Given the description of an element on the screen output the (x, y) to click on. 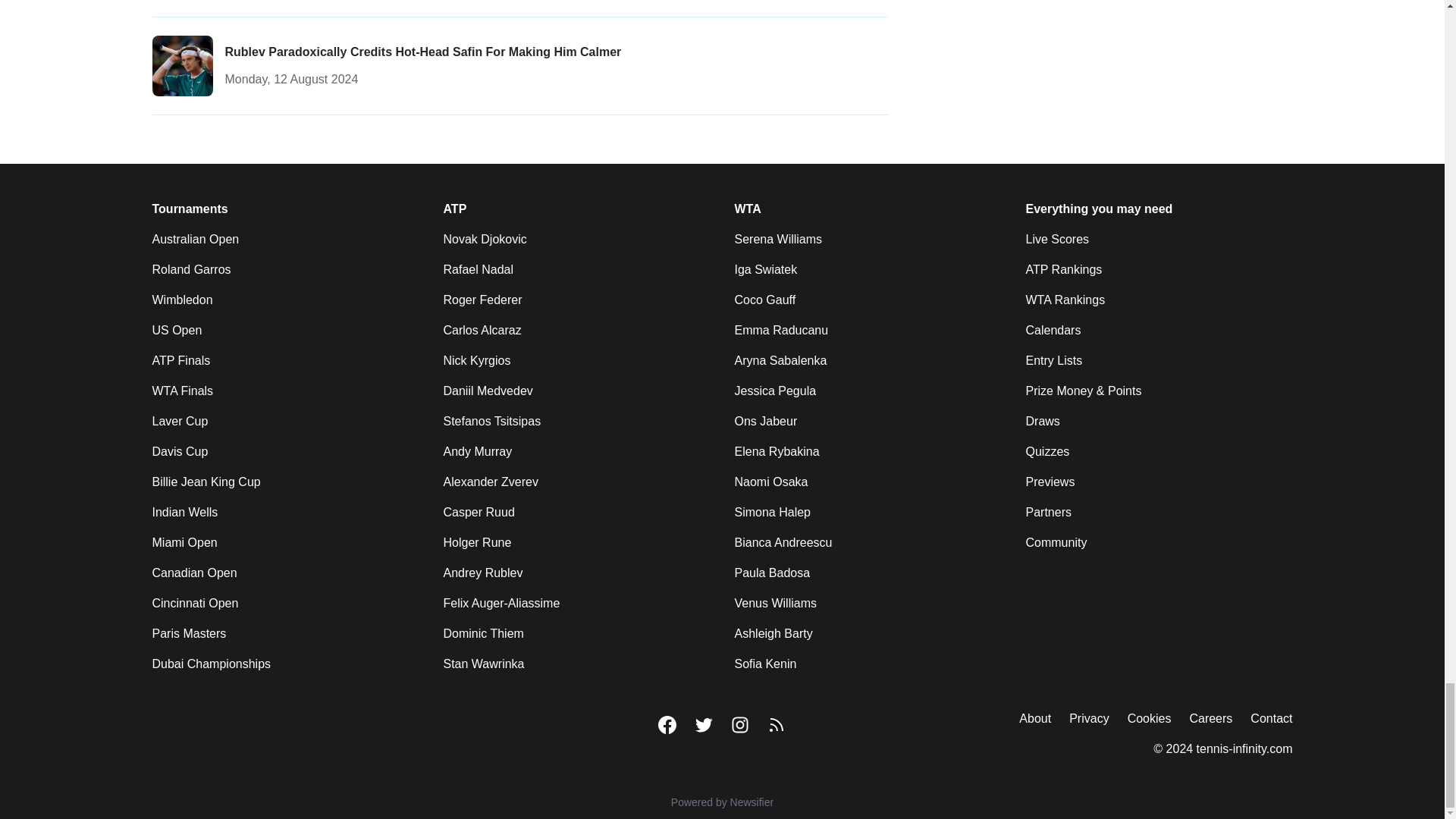
Newsifier (722, 802)
Contact (1271, 719)
About (1035, 719)
Careers (1210, 719)
Cookies (1149, 719)
Privacy (1088, 719)
ATP (453, 208)
WTA (746, 208)
